Given the description of an element on the screen output the (x, y) to click on. 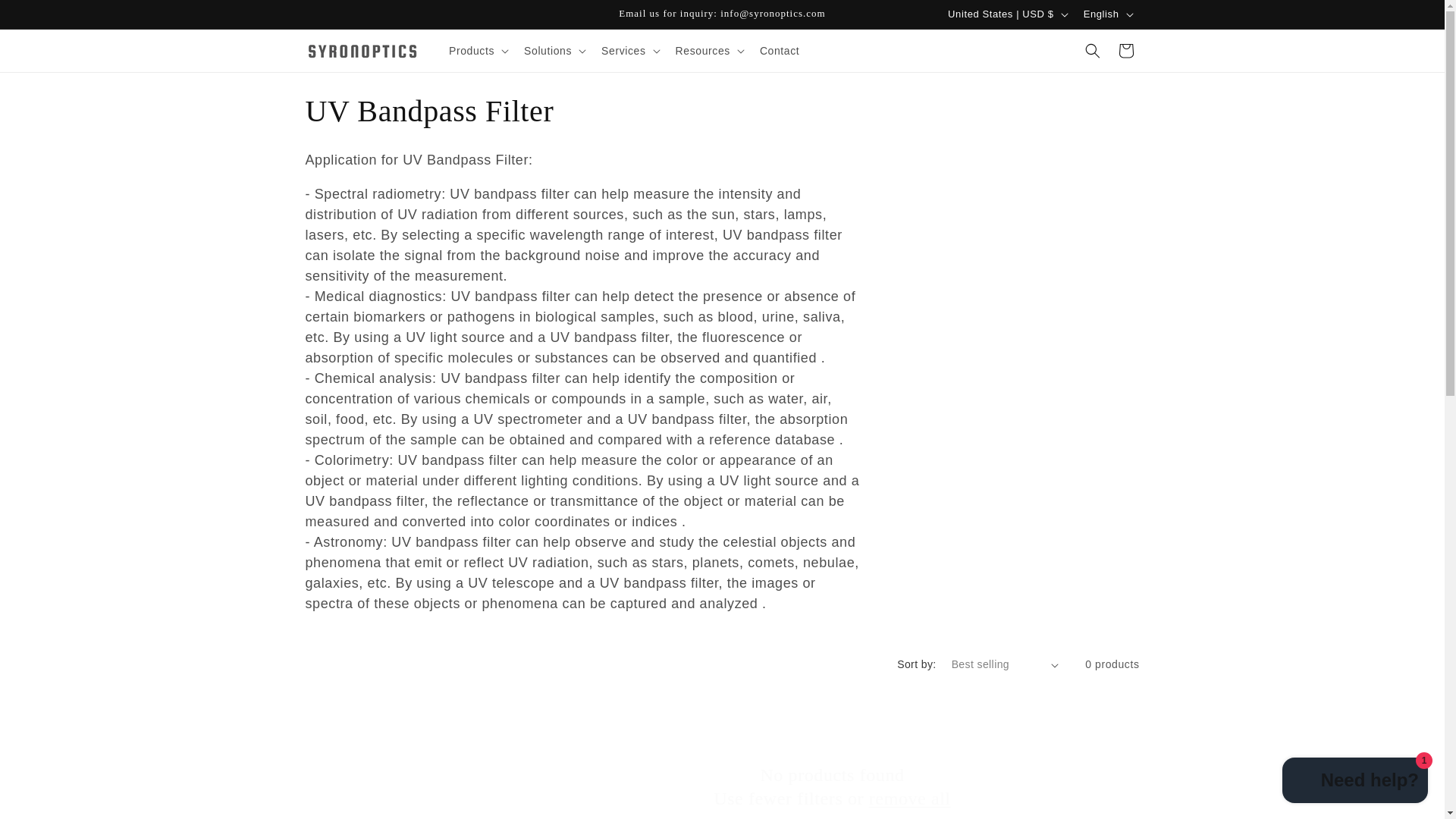
Skip to content (45, 17)
English (1107, 14)
Shopify online store chat (1355, 781)
